Given the description of an element on the screen output the (x, y) to click on. 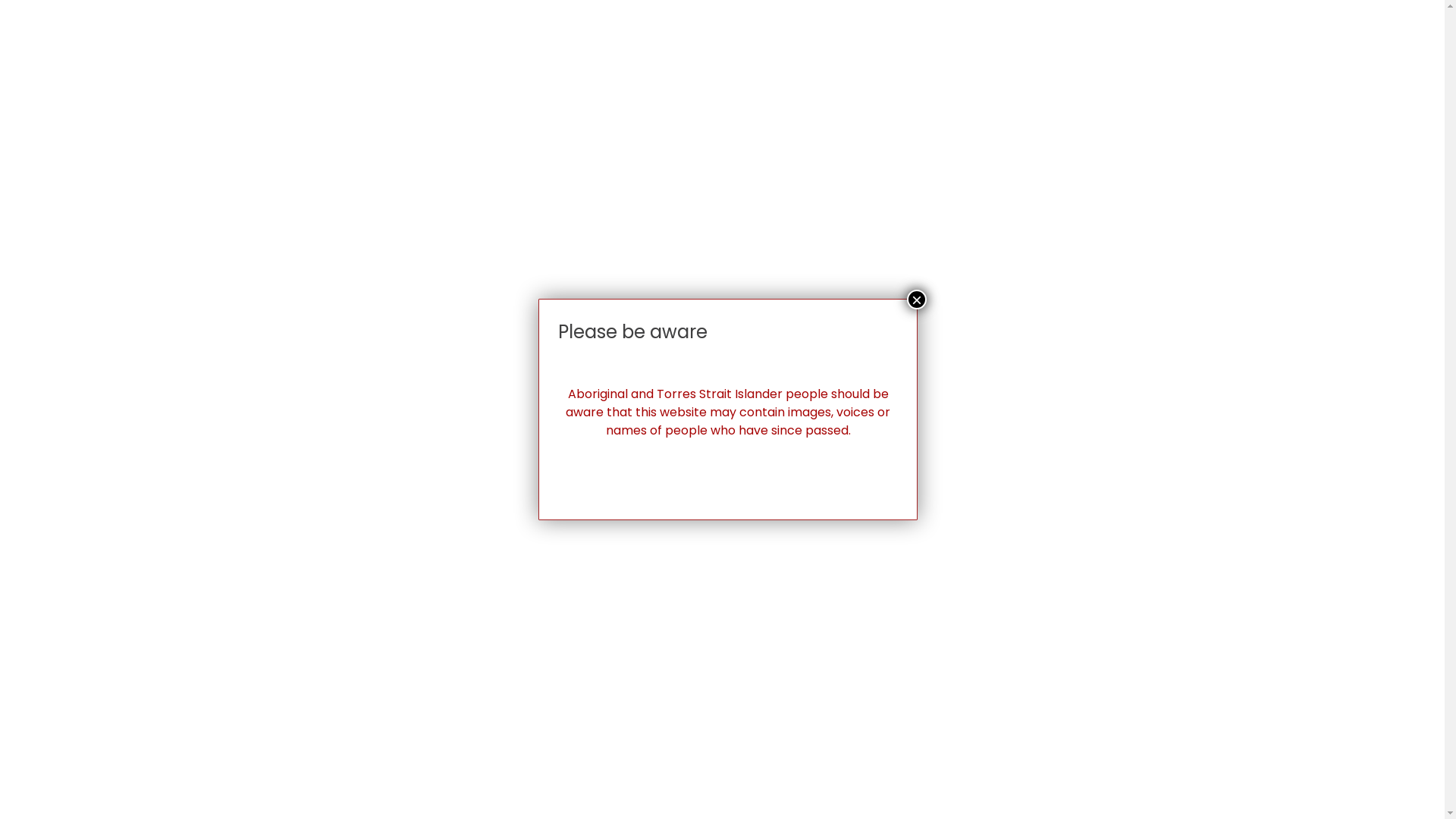
OUR COMMUNITY Element type: text (601, 43)
Our Story Element type: text (225, 455)
Home Element type: text (163, 455)
HOME Element type: text (406, 43)
OUR ECONOMY Element type: text (956, 43)
OUR NEWS Element type: text (1063, 43)
OUR COUNTRY Element type: text (837, 43)
JOBS Element type: text (1139, 43)
OUR CULTURE Element type: text (723, 43)
OUR STORY Element type: text (486, 43)
CONTACT Element type: text (1215, 43)
